Given the description of an element on the screen output the (x, y) to click on. 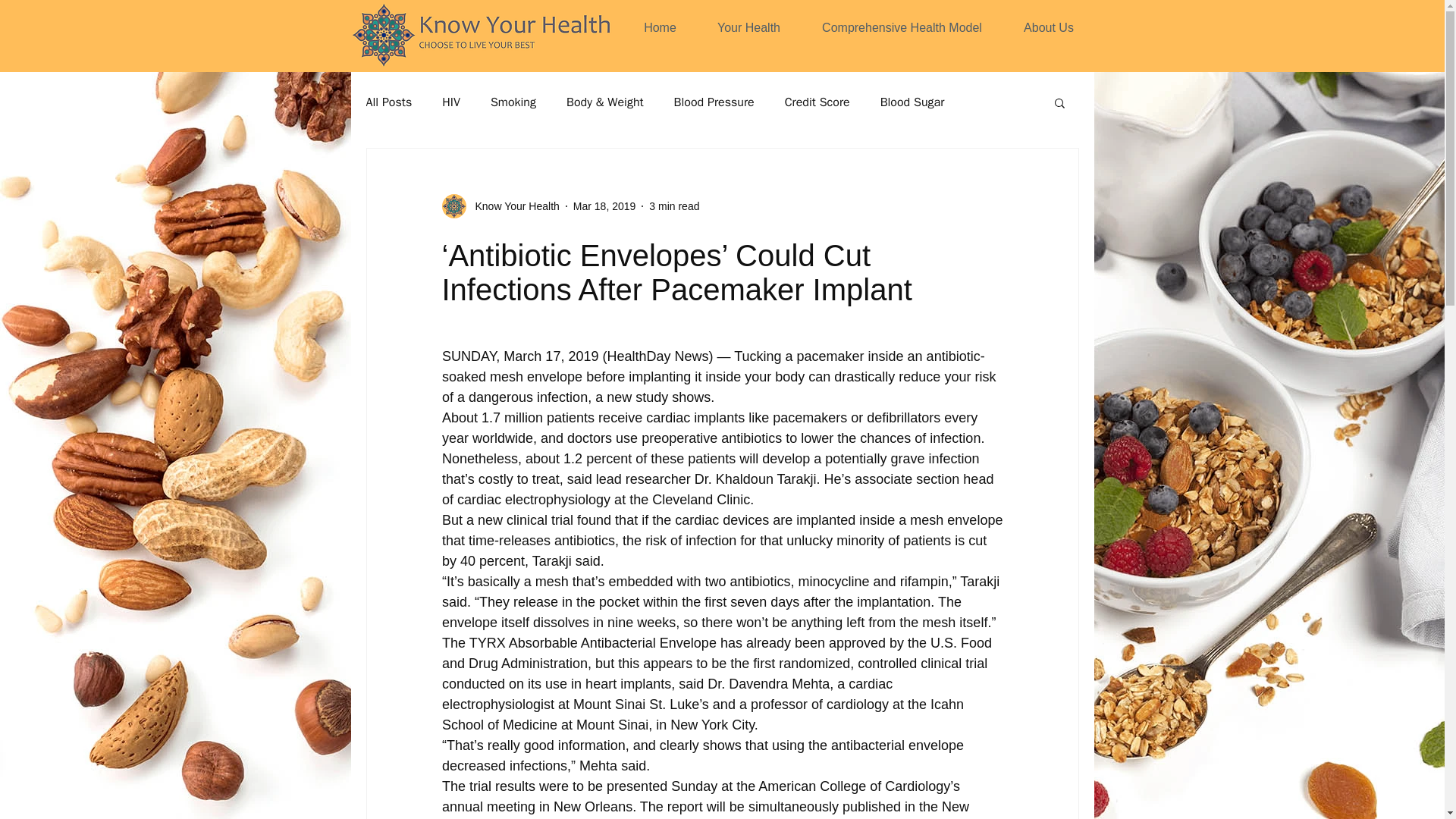
Mar 18, 2019 (604, 205)
All Posts (388, 101)
Blood Pressure (714, 101)
Blood Sugar (912, 101)
Your Health (748, 27)
About Us (1049, 27)
Home (660, 27)
Smoking (512, 101)
Credit Score (817, 101)
3 min read (673, 205)
